Given the description of an element on the screen output the (x, y) to click on. 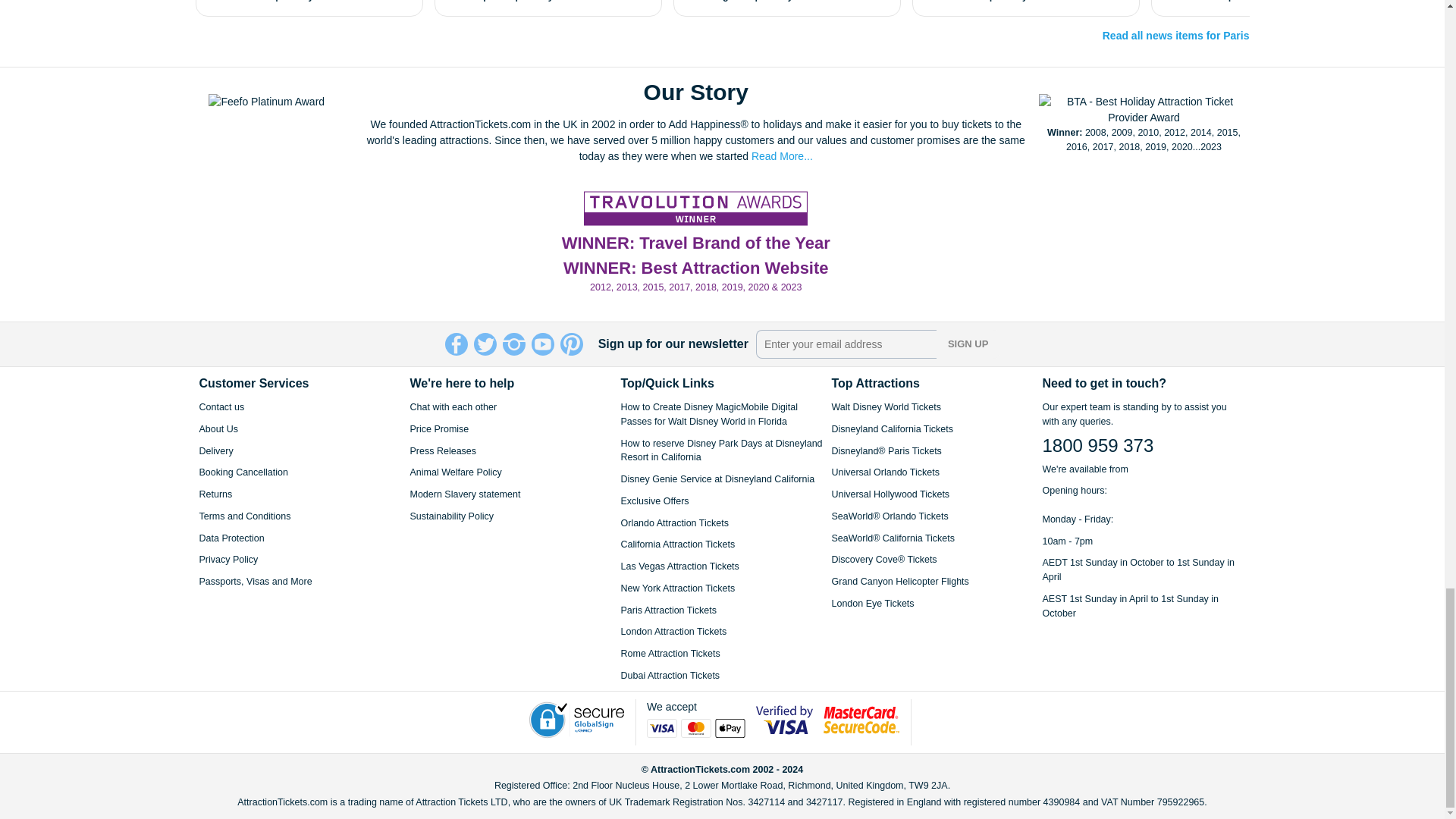
SIGN UP (967, 344)
